Given the description of an element on the screen output the (x, y) to click on. 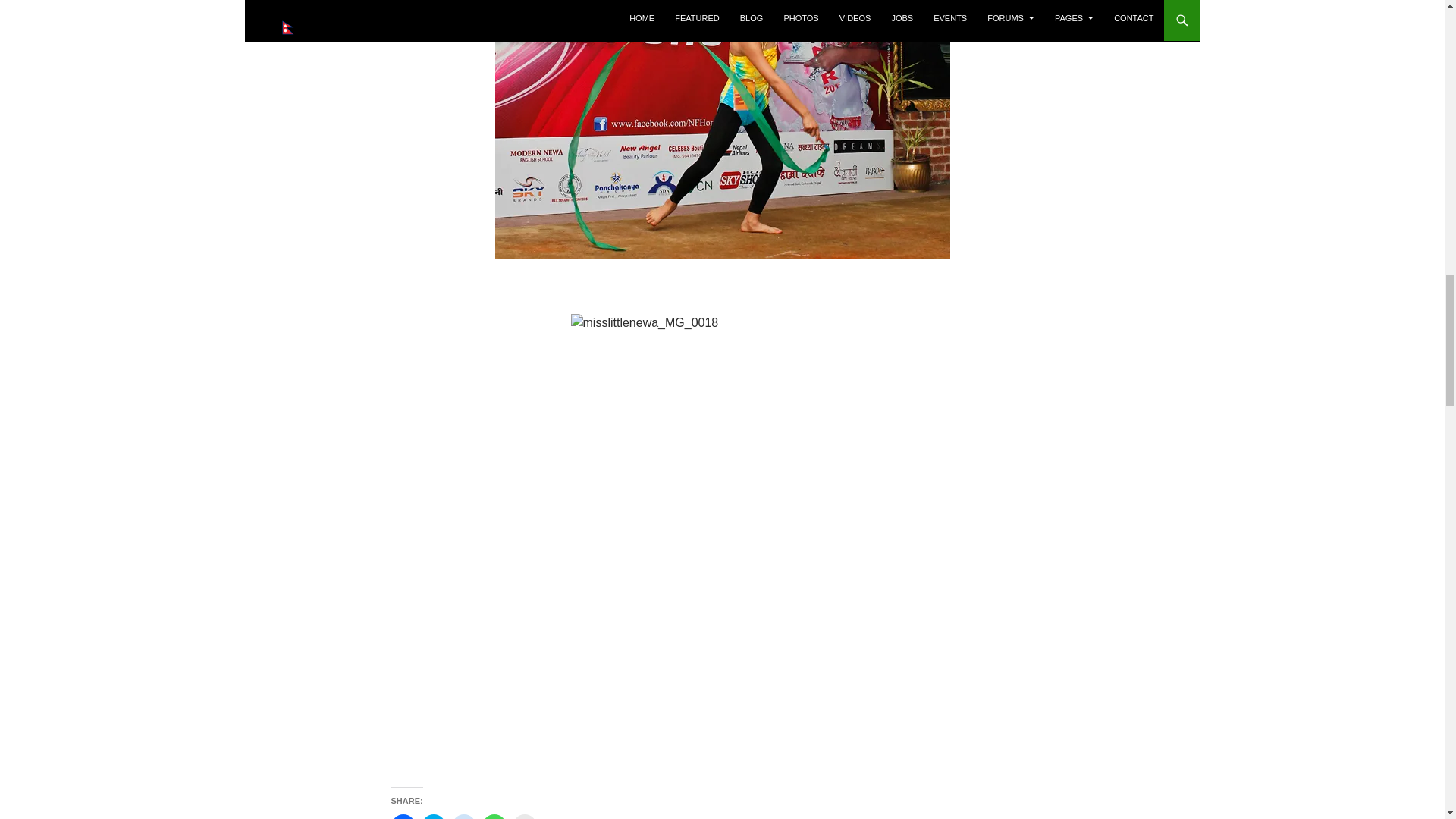
Click to email a link to a friend (524, 816)
Click to share on WhatsApp (493, 816)
Click to share on Twitter (433, 816)
Click to share on Reddit (463, 816)
Click to share on Facebook (402, 816)
